Given the description of an element on the screen output the (x, y) to click on. 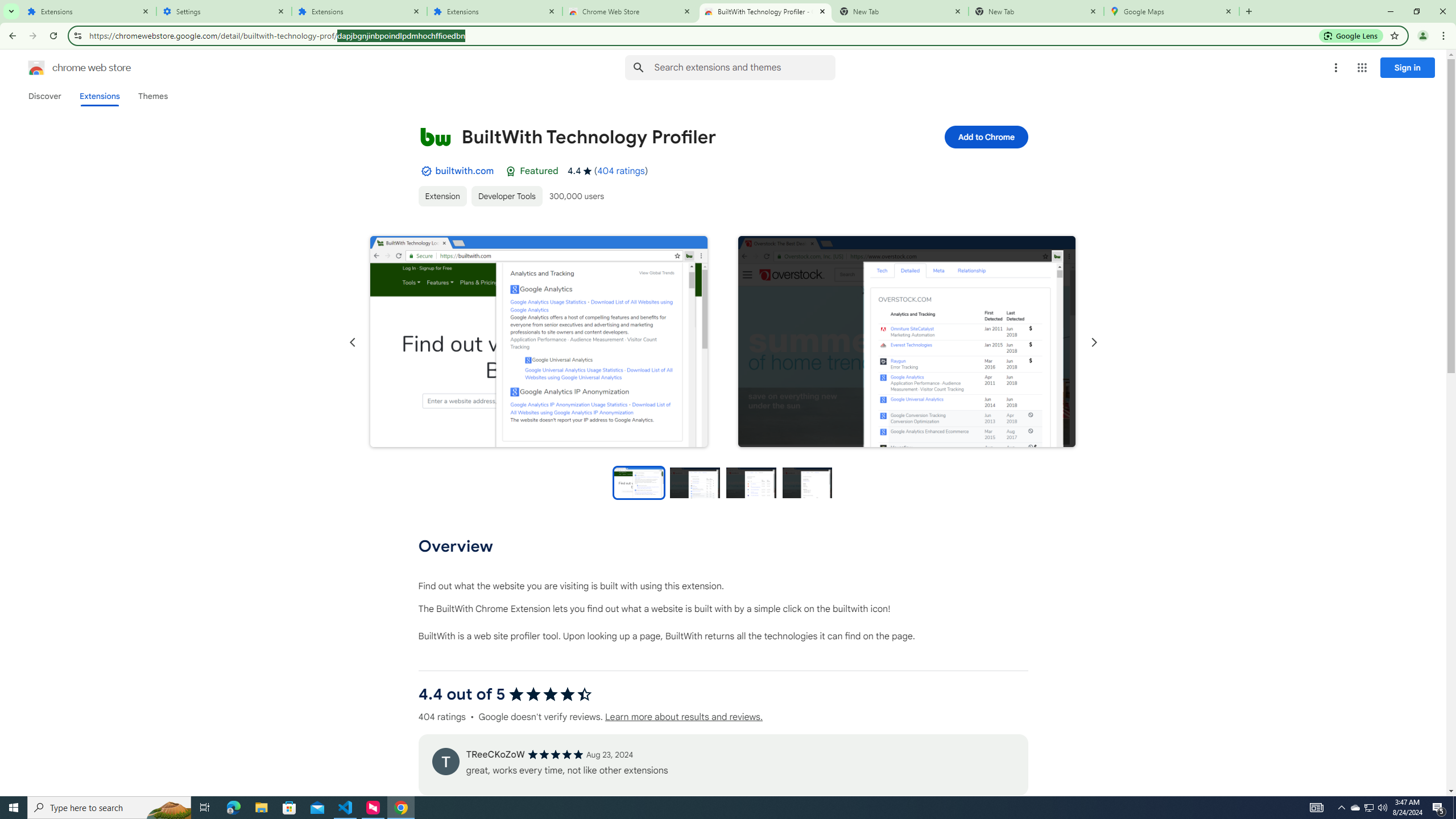
Search tabs (10, 11)
System (6, 6)
Preview slide 4 (807, 482)
4.4 out of 5 stars (549, 693)
Learn more about results and reviews. (683, 716)
System (6, 6)
builtwith.com (464, 170)
Address and search bar (701, 35)
Next slide (1093, 342)
BuiltWith Technology Profiler - Chrome Web Store (765, 11)
Item logo image for BuiltWith Technology Profiler (434, 136)
Review's profile picture (445, 760)
404 ratings (620, 170)
More options menu (1335, 67)
